Given the description of an element on the screen output the (x, y) to click on. 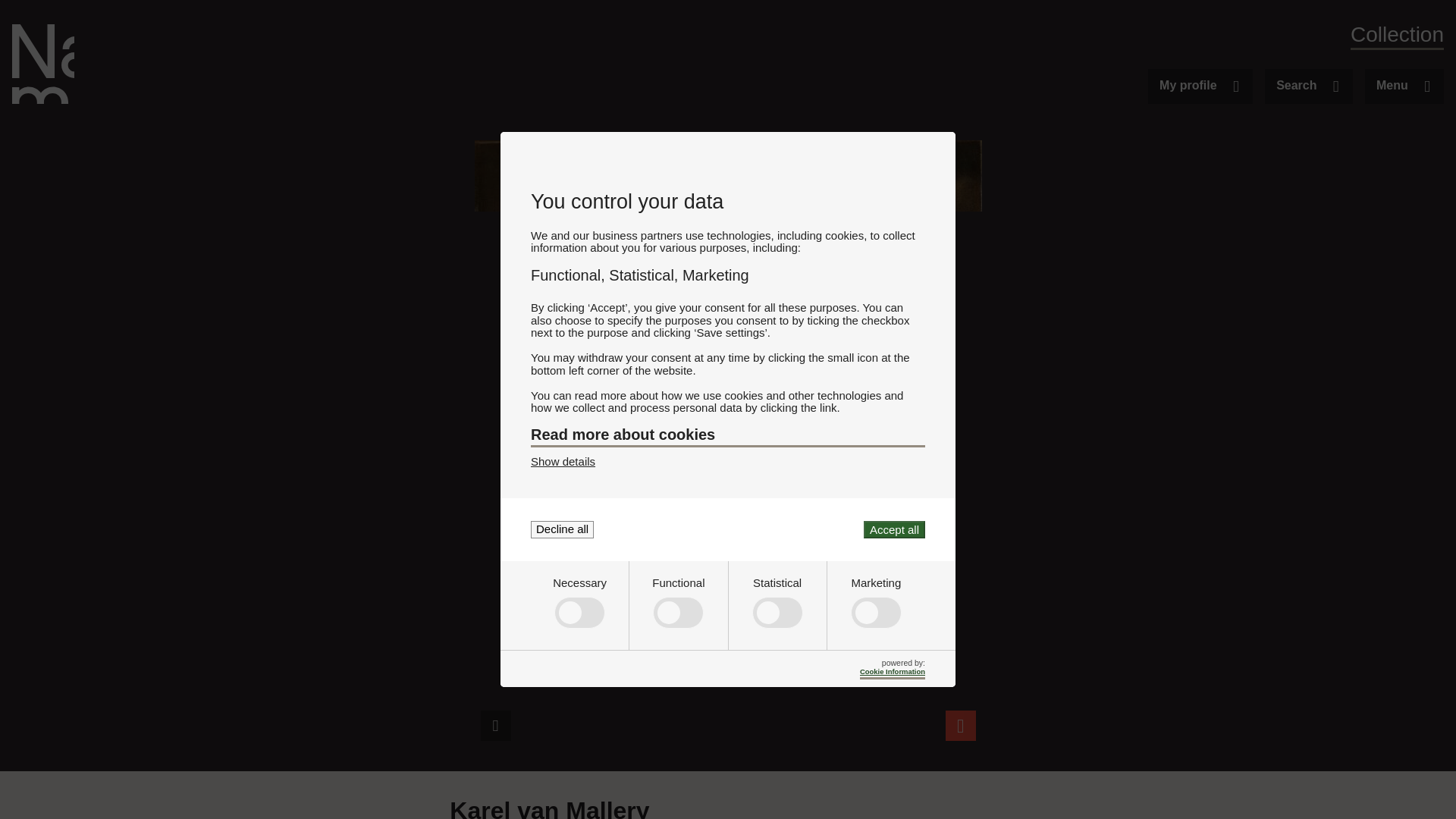
Read more about cookies (727, 436)
Show details (563, 461)
